Given the description of an element on the screen output the (x, y) to click on. 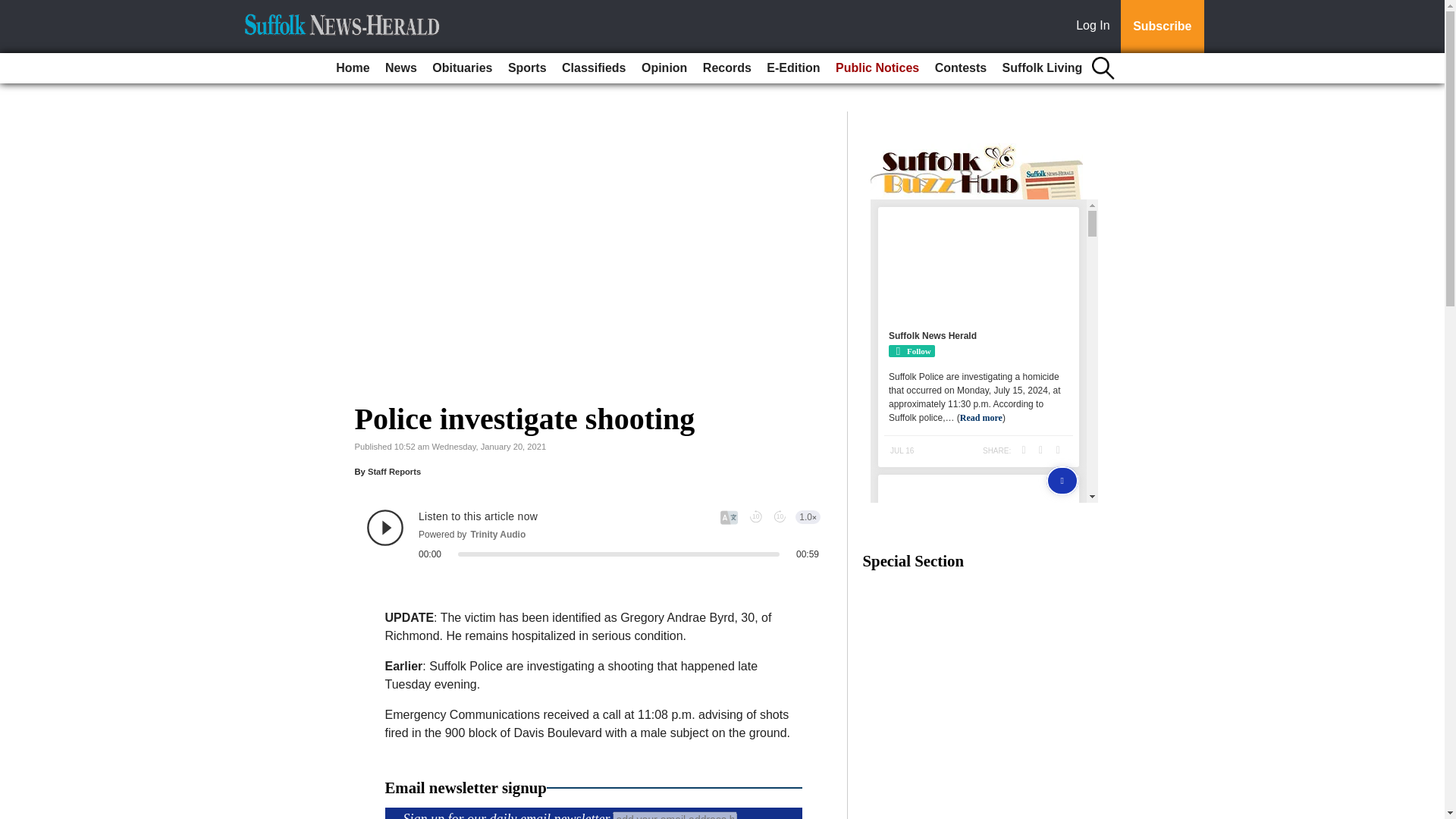
Subscribe (1162, 26)
Trinity Audio Player (592, 534)
Go (13, 9)
Obituaries (461, 68)
Classifieds (593, 68)
E-Edition (792, 68)
Sports (527, 68)
Contests (960, 68)
Home (352, 68)
Staff Reports (394, 470)
Records (727, 68)
Suffolk Living (1042, 68)
Log In (1095, 26)
News (400, 68)
Public Notices (876, 68)
